Given the description of an element on the screen output the (x, y) to click on. 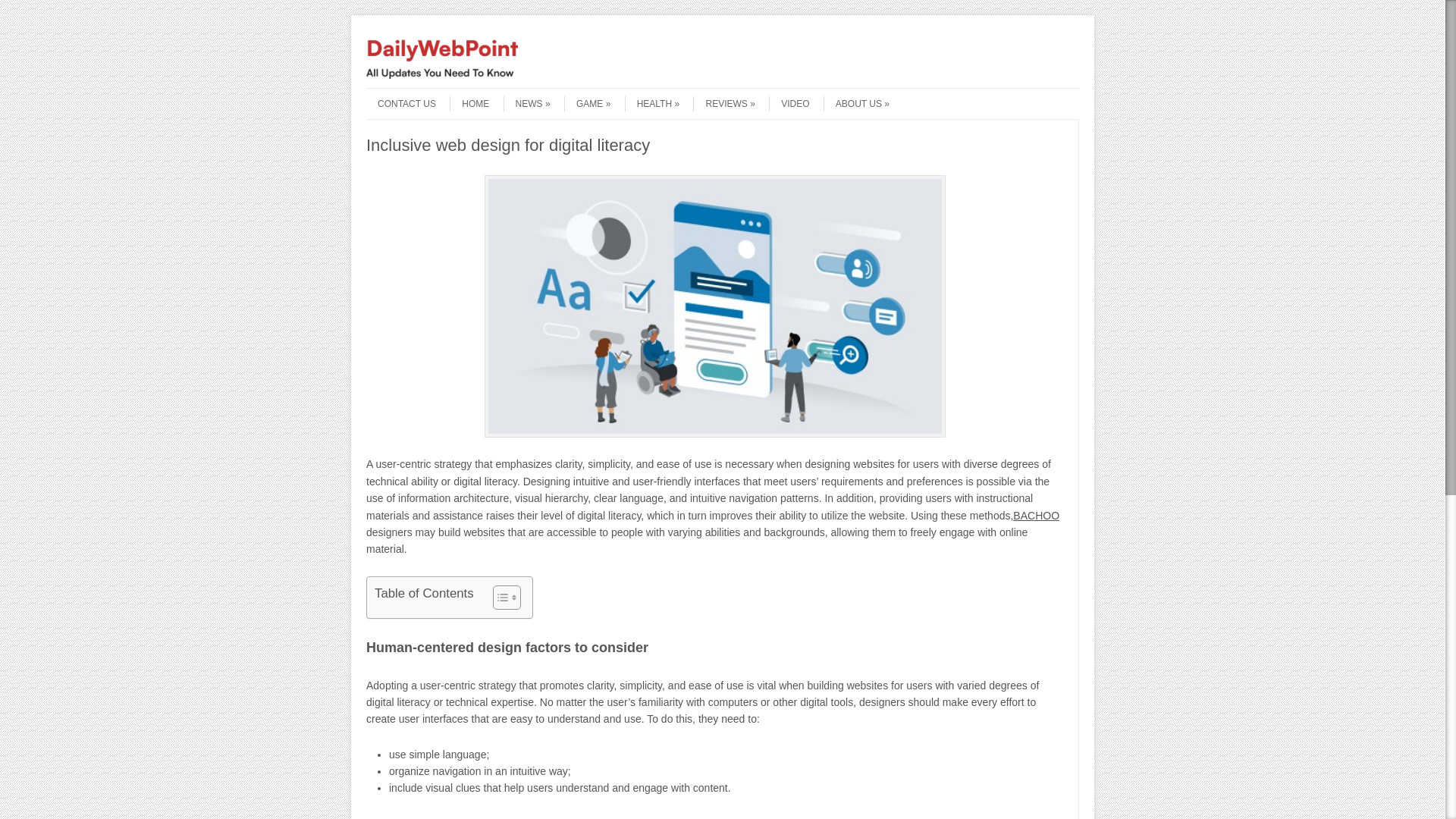
GAME (587, 103)
CONTACT US (400, 103)
NEWS (526, 103)
VIDEO (788, 103)
BACHOO (1036, 515)
HOME (469, 103)
Dailywebpoint (442, 74)
REVIEWS (723, 103)
Skip to content (396, 92)
ABOUT US (856, 103)
